Given the description of an element on the screen output the (x, y) to click on. 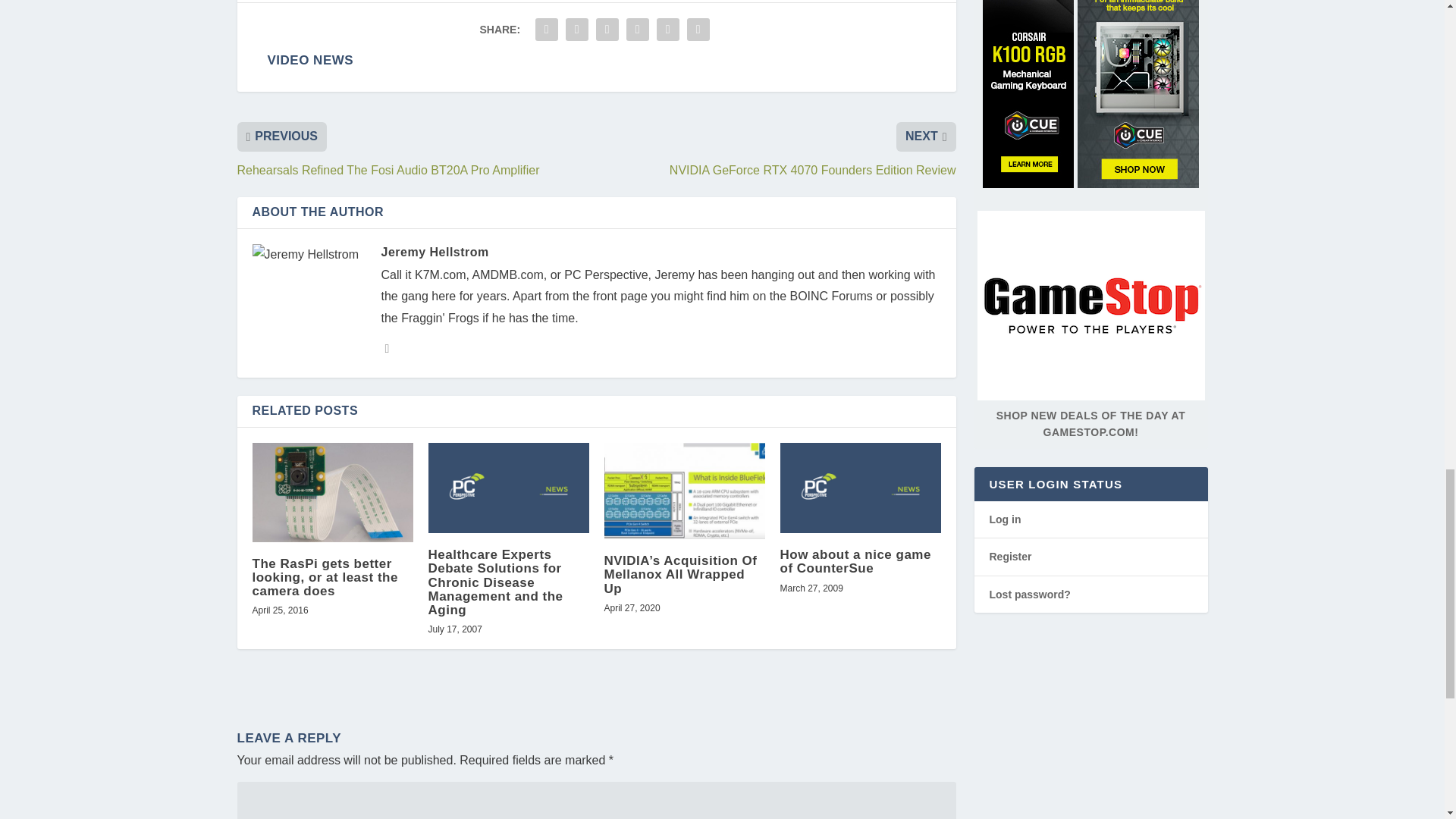
View all posts by Jeremy Hellstrom (433, 251)
The RasPi gets better looking, or at least the camera does (331, 492)
